Given the description of an element on the screen output the (x, y) to click on. 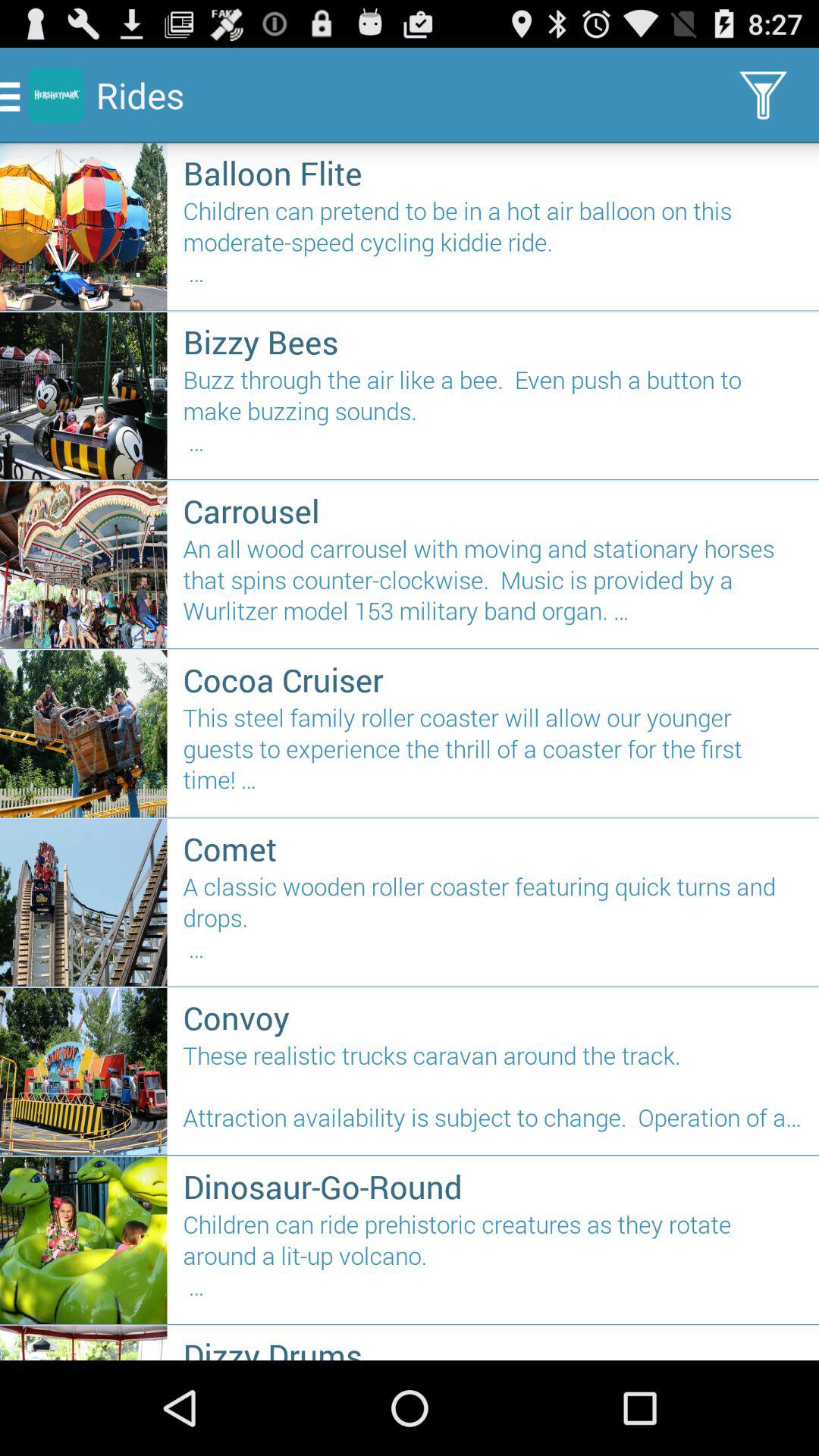
turn on the convoy icon (493, 1017)
